Given the description of an element on the screen output the (x, y) to click on. 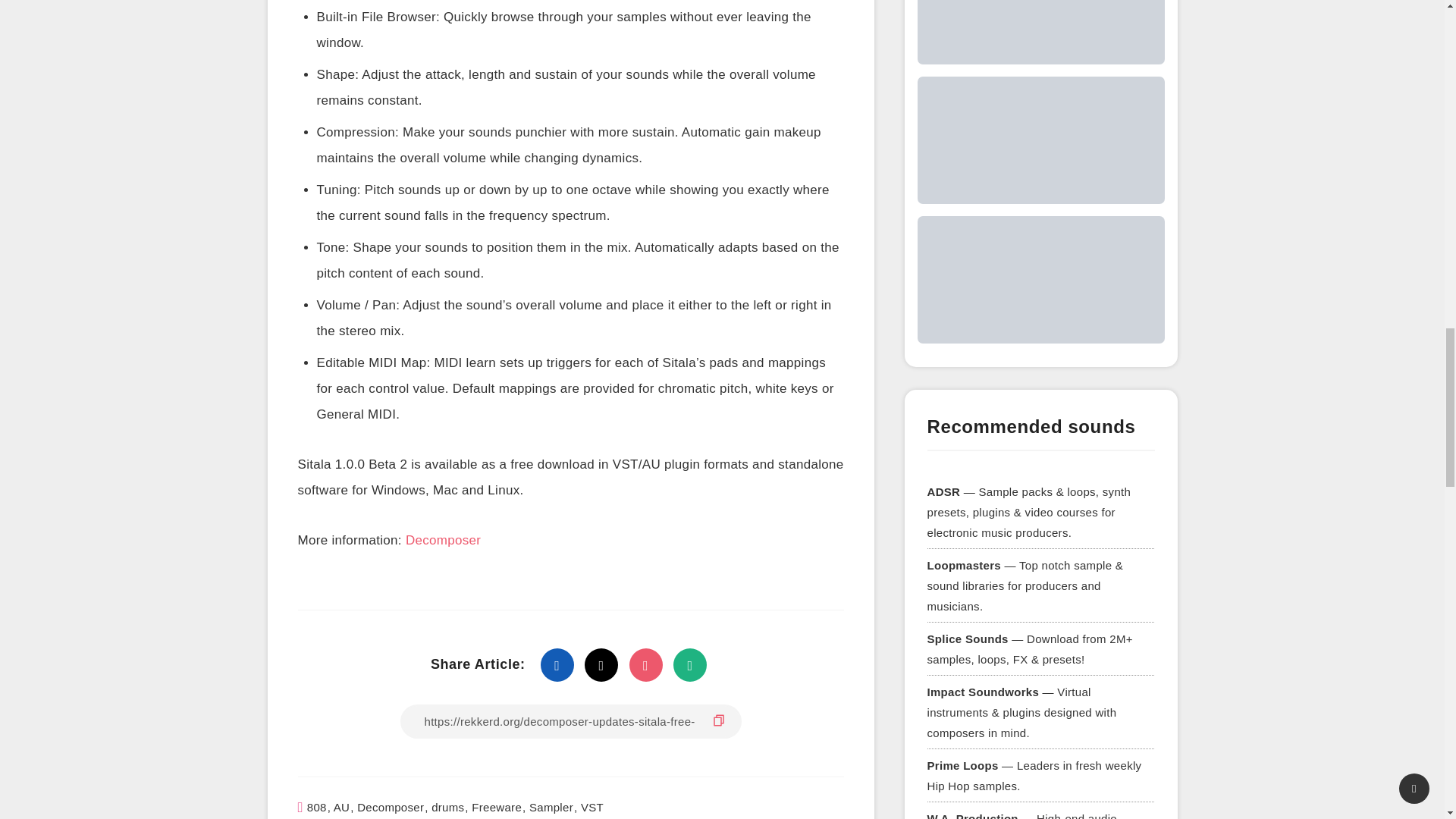
AU (341, 807)
808 (316, 807)
Decomposer (389, 807)
VST (592, 807)
Sampler (551, 807)
Decomposer (443, 542)
Freeware (496, 807)
drums (447, 807)
